Given the description of an element on the screen output the (x, y) to click on. 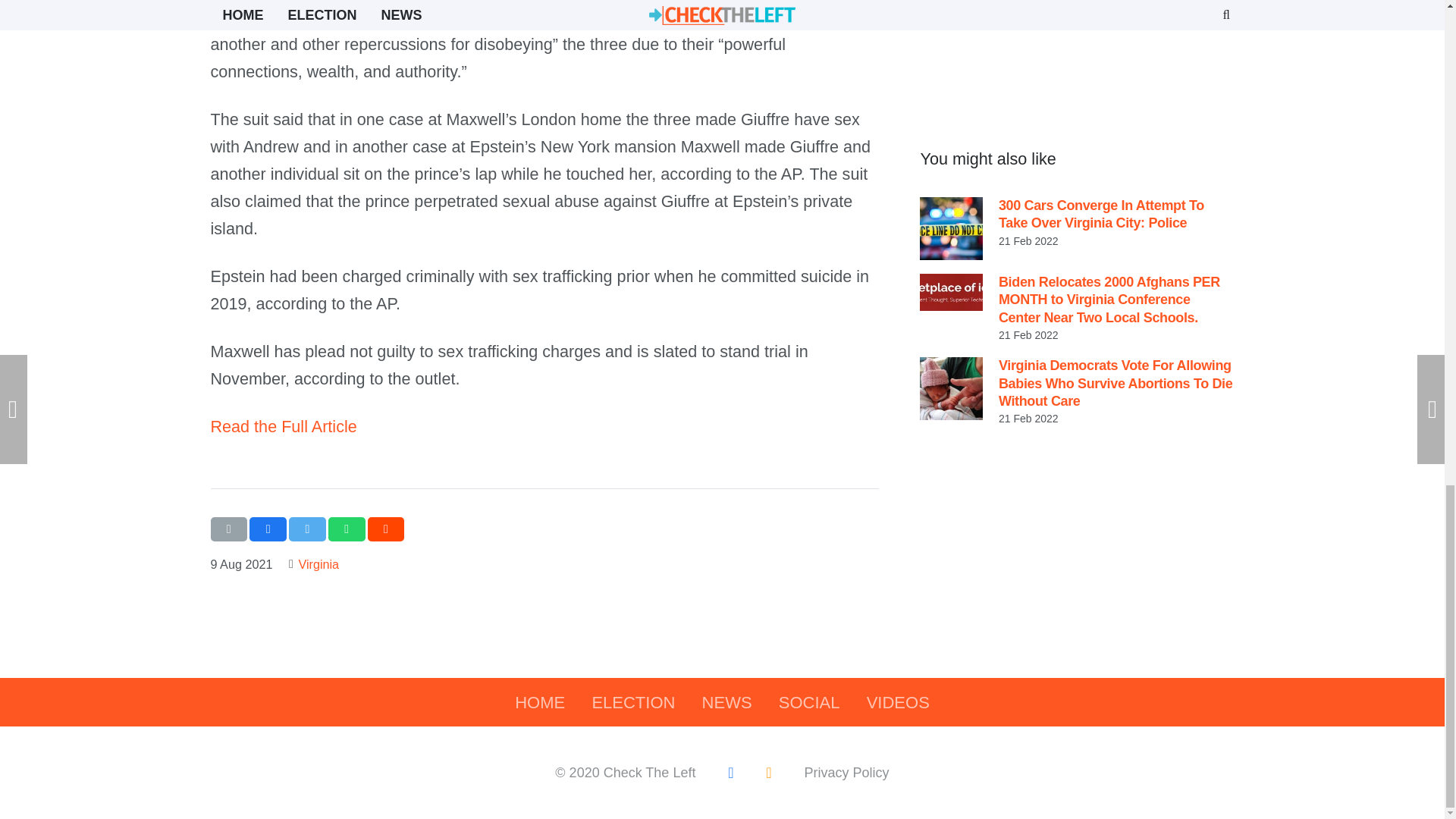
SOCIAL (809, 702)
Share this (347, 528)
Read the Full Article (283, 425)
Share this (267, 528)
NEWS (726, 702)
VIDEOS (897, 702)
Virginia (318, 563)
Tweet this (307, 528)
HOME (540, 702)
Share this (386, 528)
Email this (229, 528)
ELECTION (633, 702)
